Given the description of an element on the screen output the (x, y) to click on. 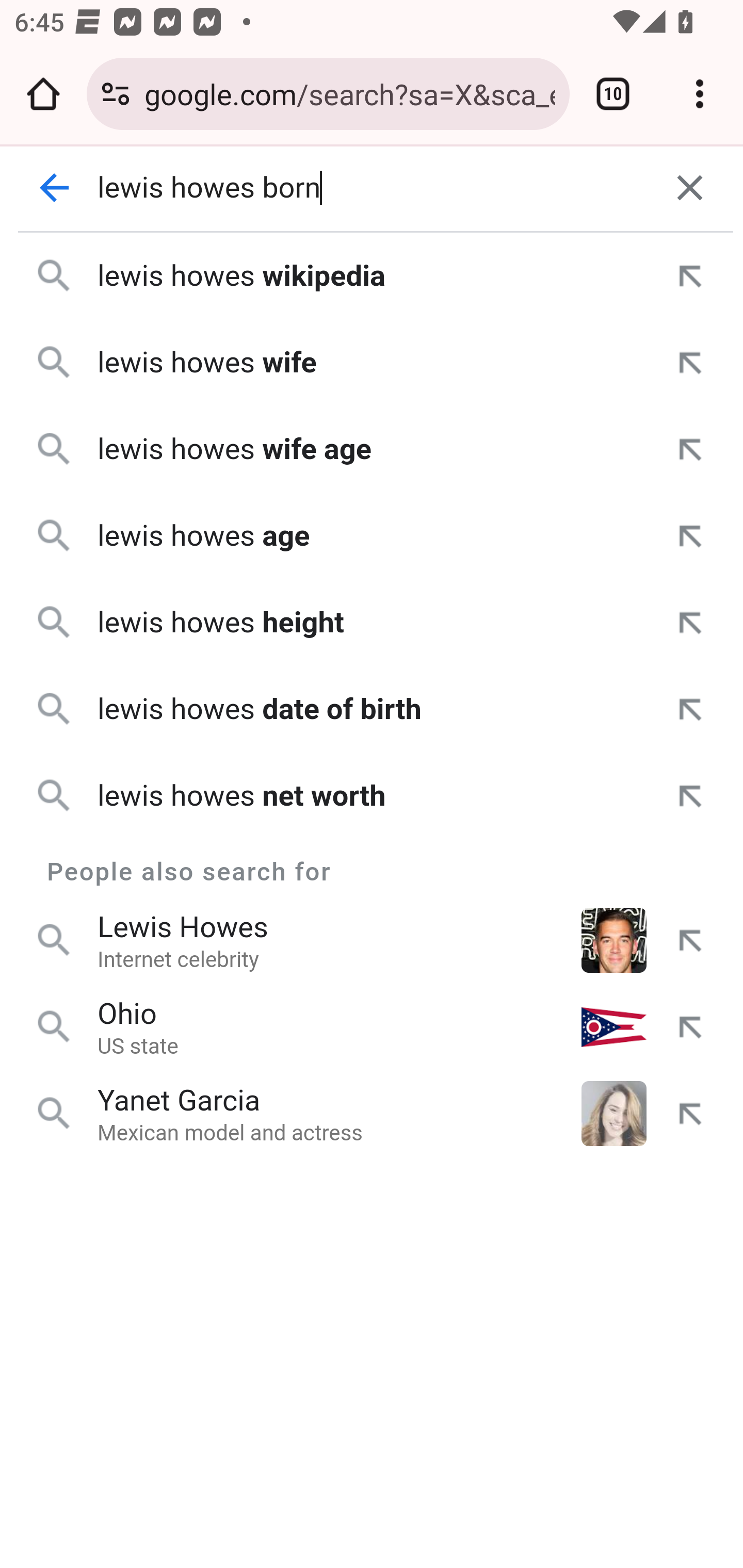
Open the home page (43, 93)
Connection is secure (115, 93)
Switch or close tabs (612, 93)
Customize and control Google Chrome (699, 93)
Back (54, 188)
Clear Search (690, 188)
lewis howes born (372, 188)
